Given the description of an element on the screen output the (x, y) to click on. 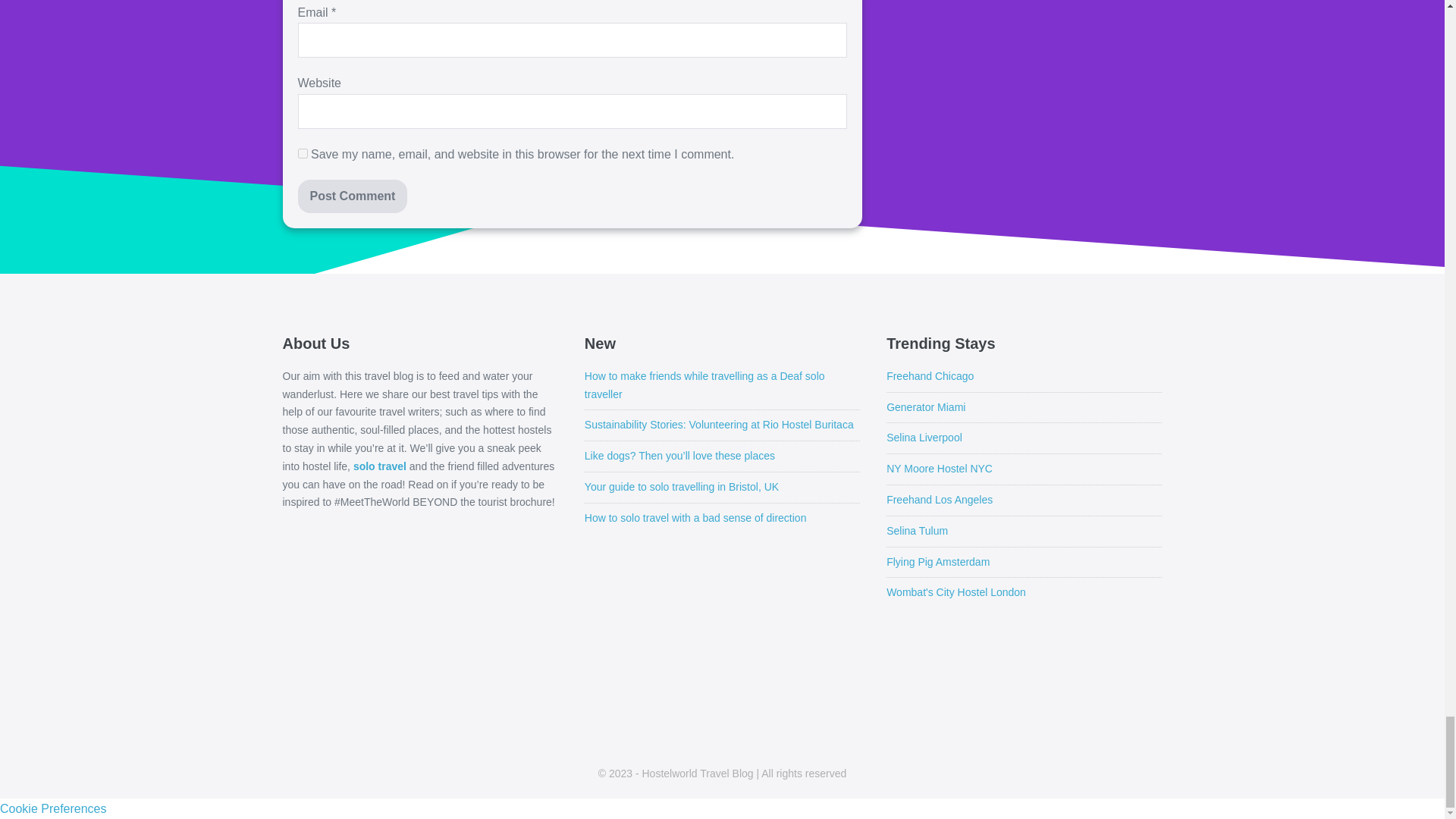
Post Comment (352, 195)
yes (302, 153)
